Given the description of an element on the screen output the (x, y) to click on. 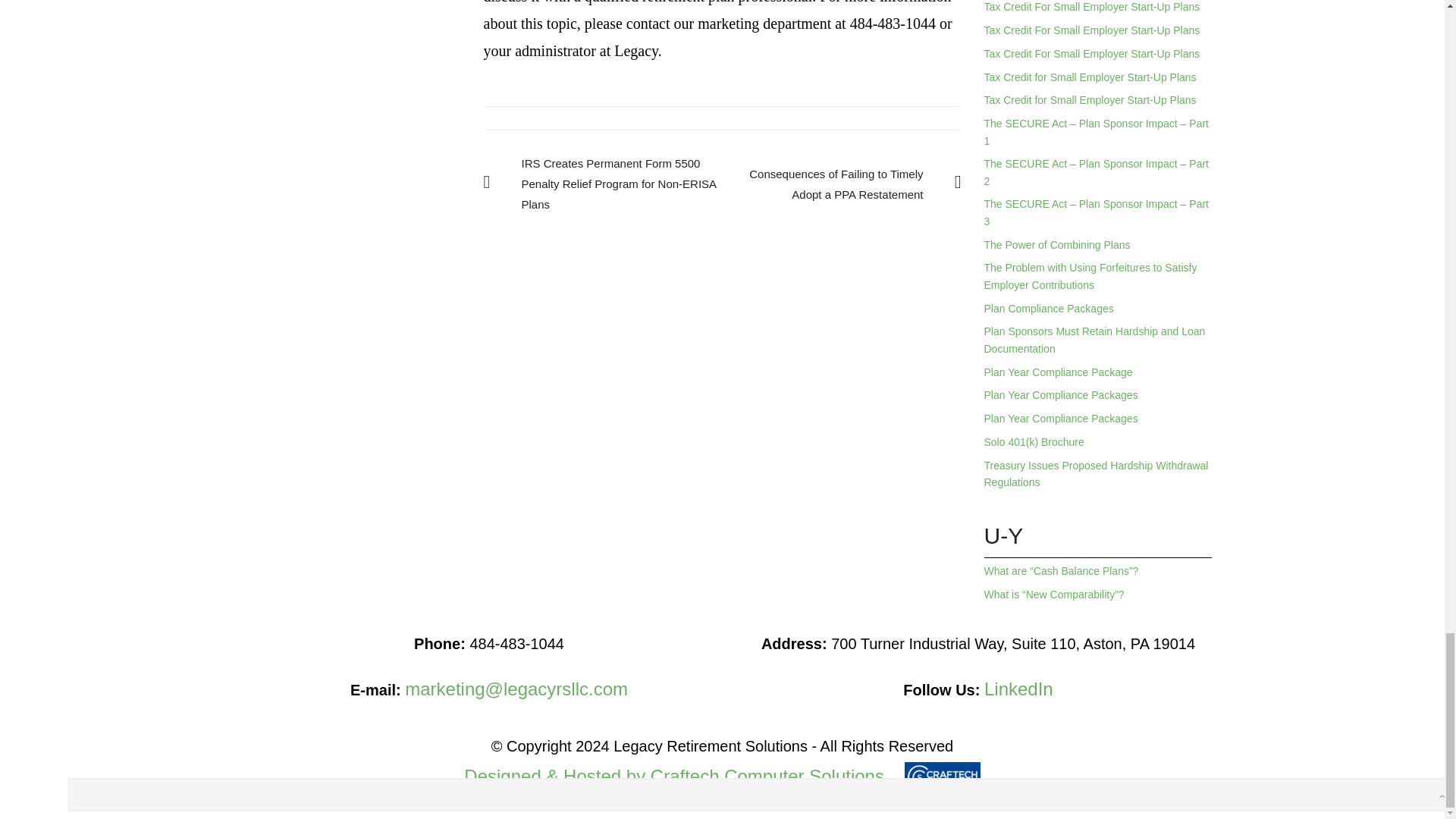
Consequences of Failing to Timely Adopt a PPA Restatement (841, 184)
